Given the description of an element on the screen output the (x, y) to click on. 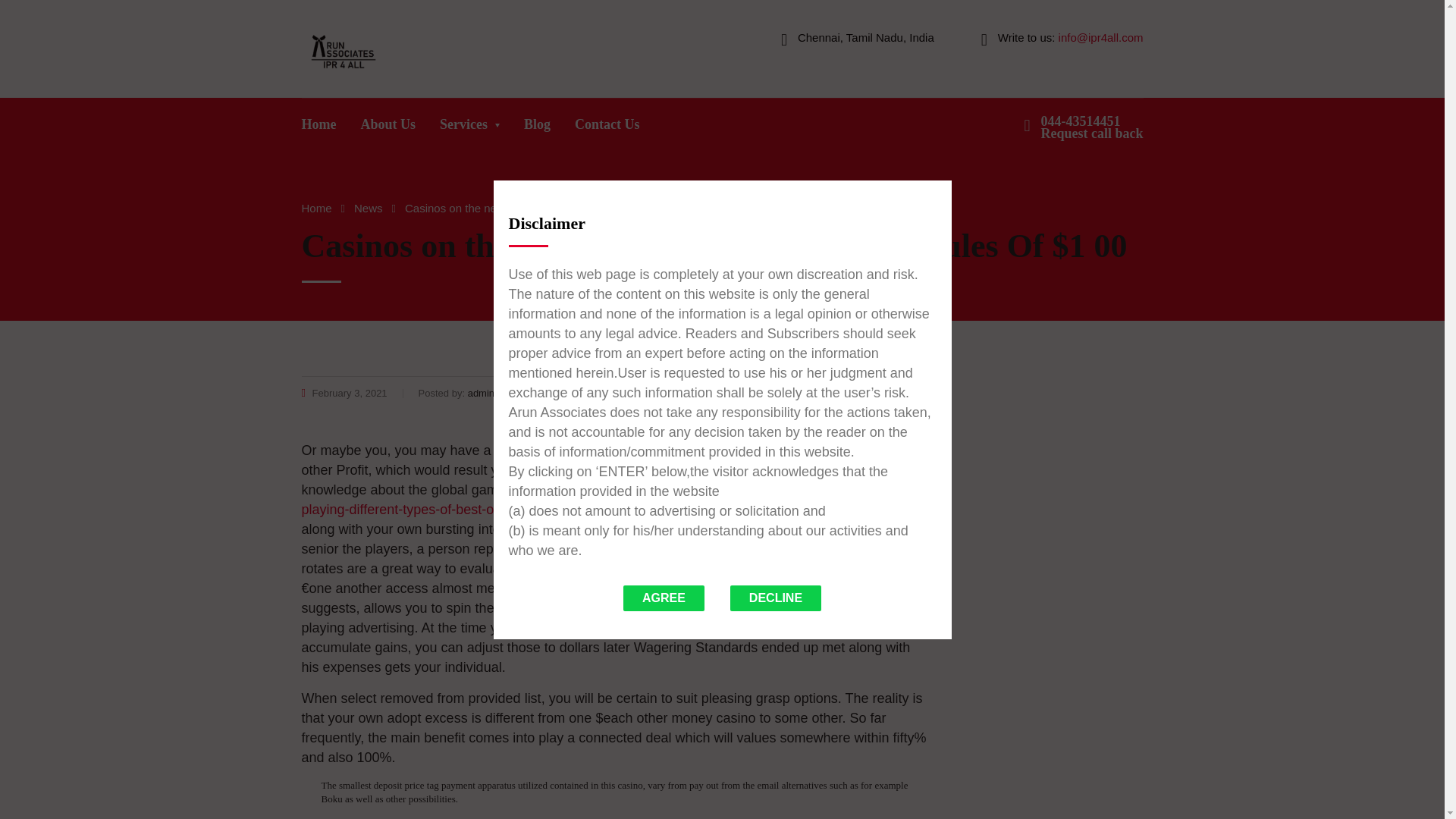
Go to News. (1091, 127)
Go to IPR4ALL. (367, 207)
Home (316, 207)
Services (319, 128)
Contact Us (470, 128)
News (607, 128)
DECLINE (367, 207)
About Us (775, 597)
No Comments (387, 128)
Blog (890, 392)
Home (537, 128)
